Given the description of an element on the screen output the (x, y) to click on. 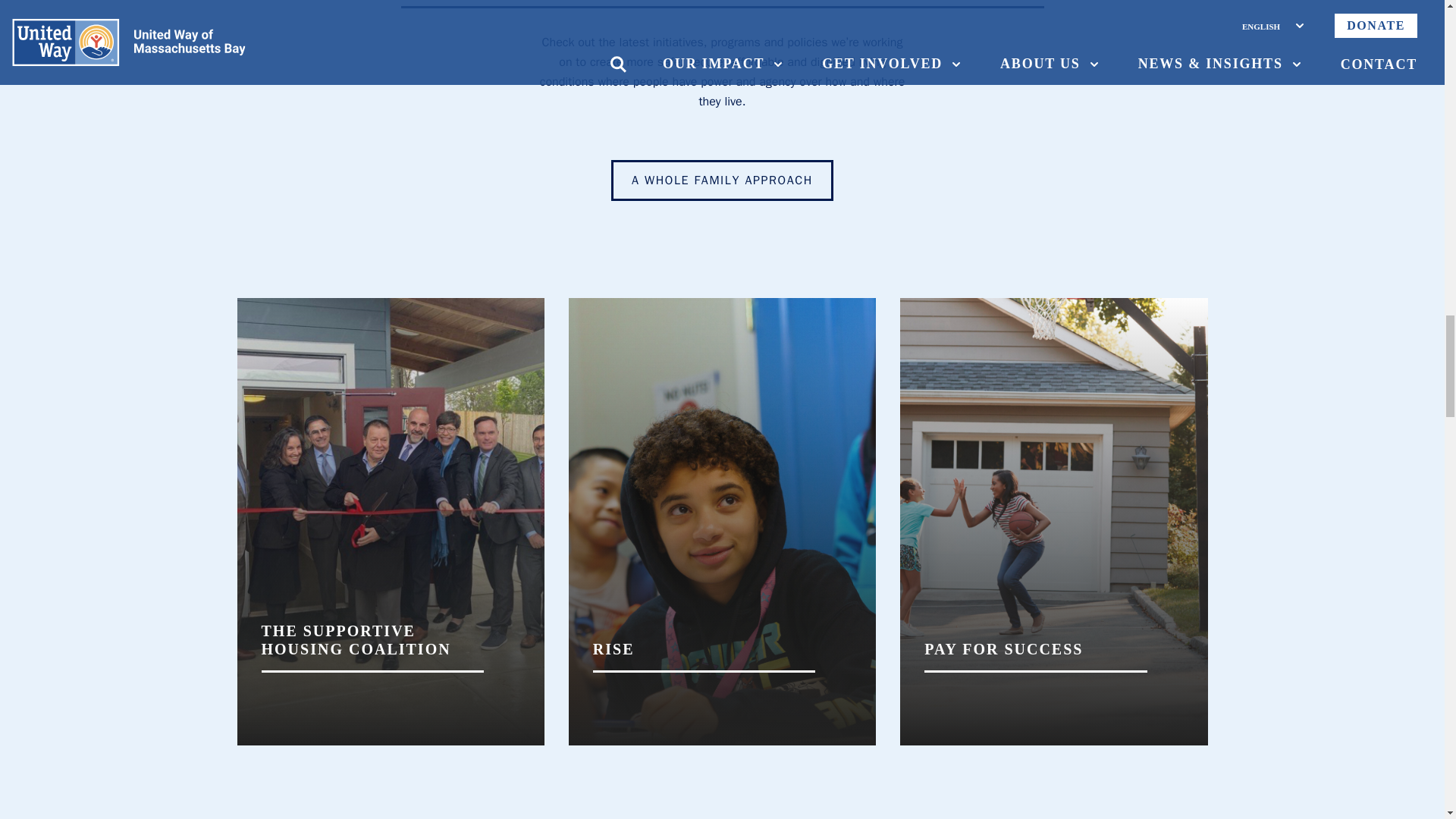
A WHOLE FAMILY APPROACH (721, 179)
